Given the description of an element on the screen output the (x, y) to click on. 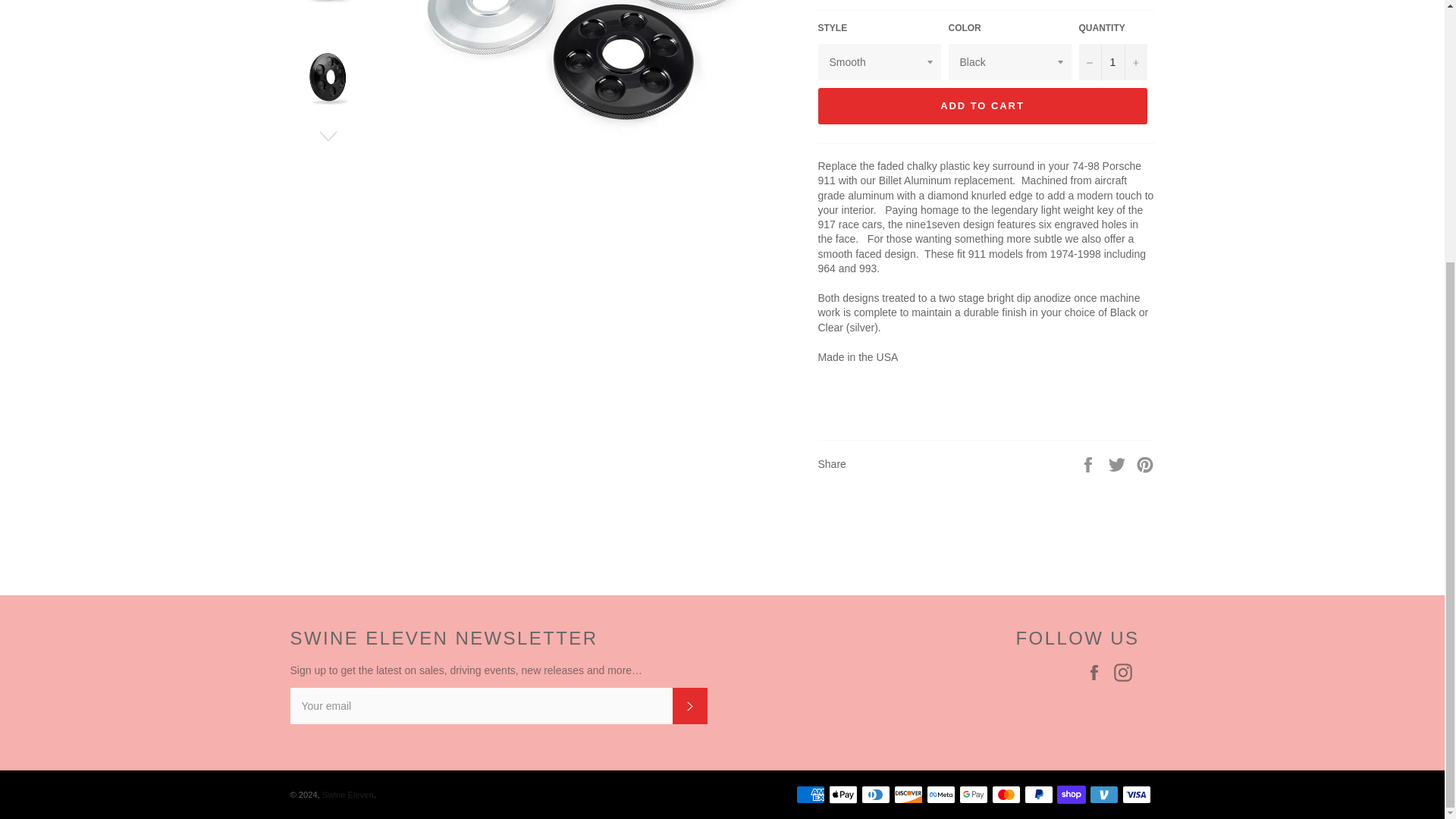
1 (1112, 62)
Tweet on Twitter (1118, 463)
Pin on Pinterest (1144, 463)
Swine Eleven on Facebook (1097, 672)
Share on Facebook (1089, 463)
Swine Eleven on Instagram (1125, 672)
